Given the description of an element on the screen output the (x, y) to click on. 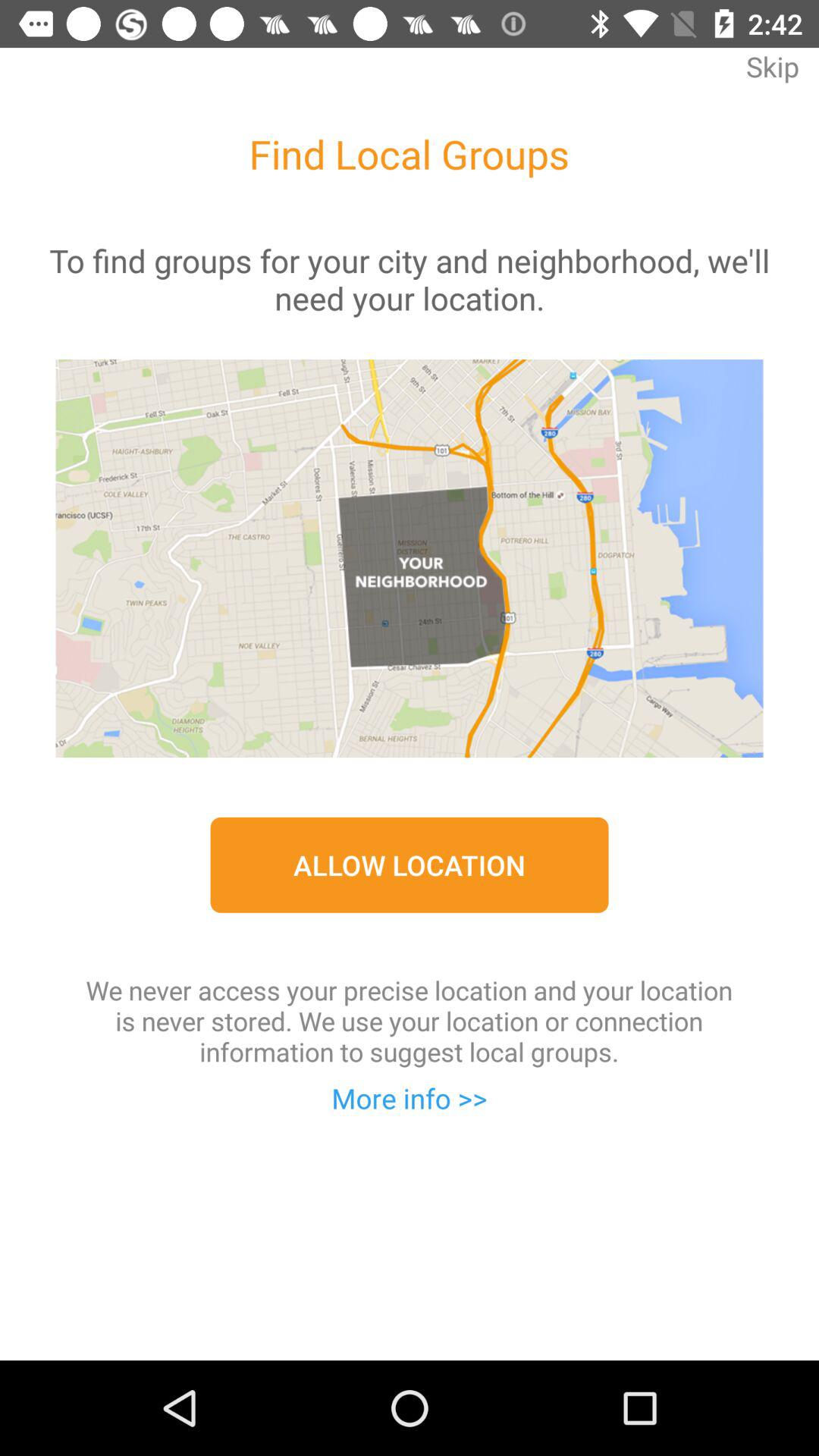
press the item above the we never access item (409, 864)
